Given the description of an element on the screen output the (x, y) to click on. 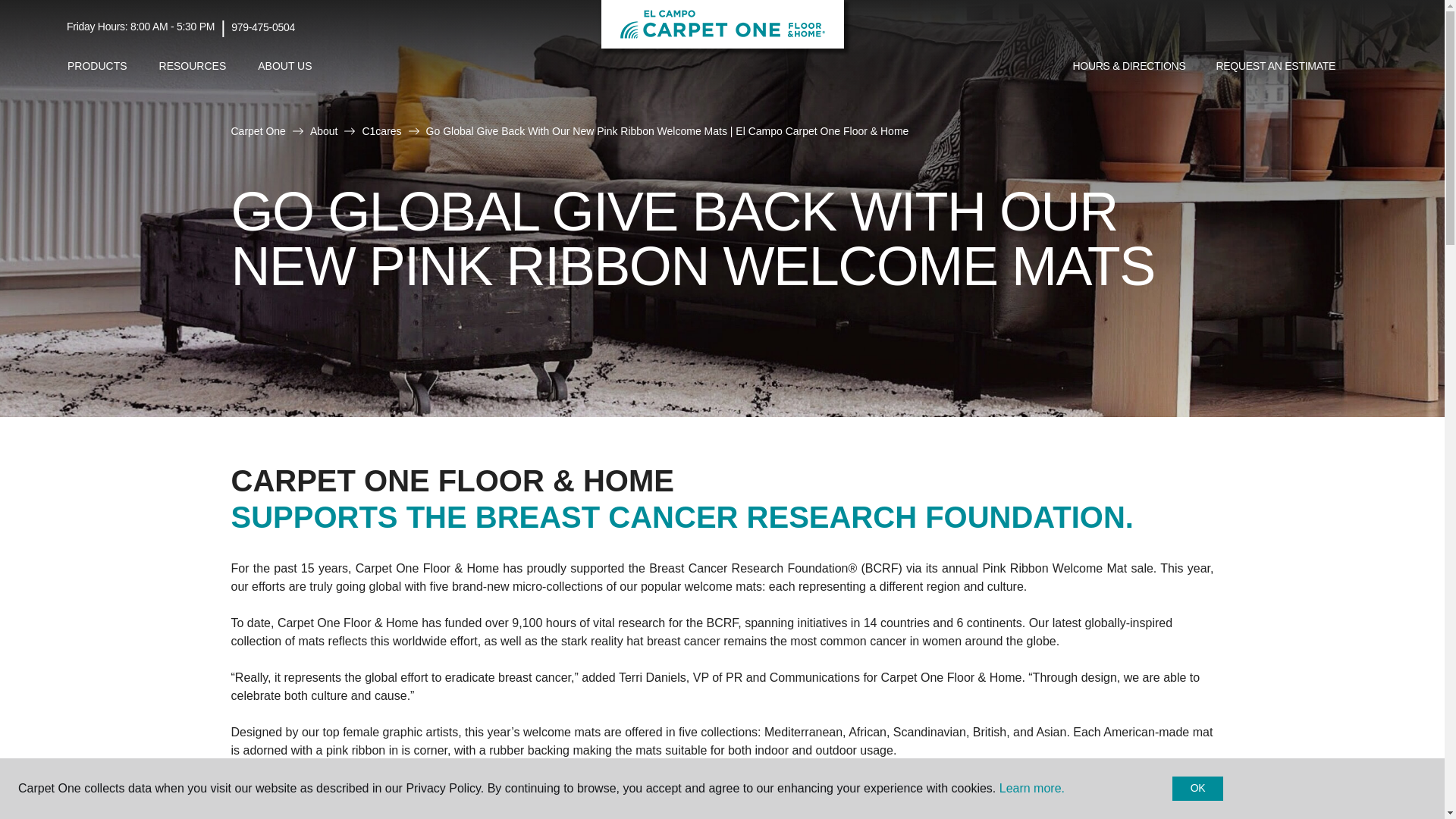
REQUEST AN ESTIMATE (1276, 66)
PRODUCTS (97, 66)
979-475-0504 (263, 27)
ABOUT US (284, 66)
RESOURCES (193, 66)
